Given the description of an element on the screen output the (x, y) to click on. 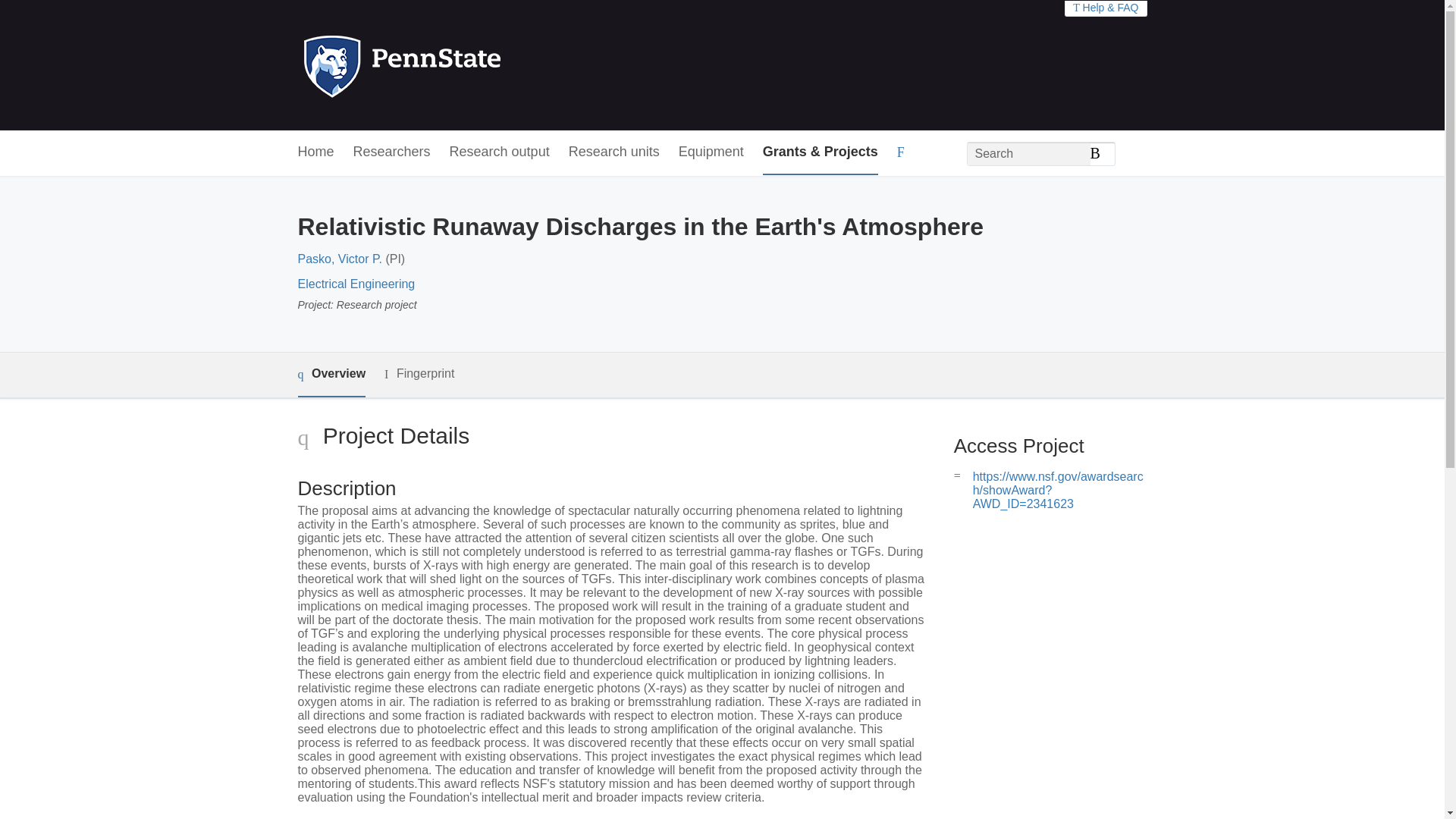
Penn State Home (467, 65)
Researchers (391, 152)
Research output (499, 152)
Electrical Engineering (355, 283)
Equipment (711, 152)
Fingerprint (419, 373)
Overview (331, 374)
Research units (614, 152)
Pasko, Victor P. (339, 258)
